Given the description of an element on the screen output the (x, y) to click on. 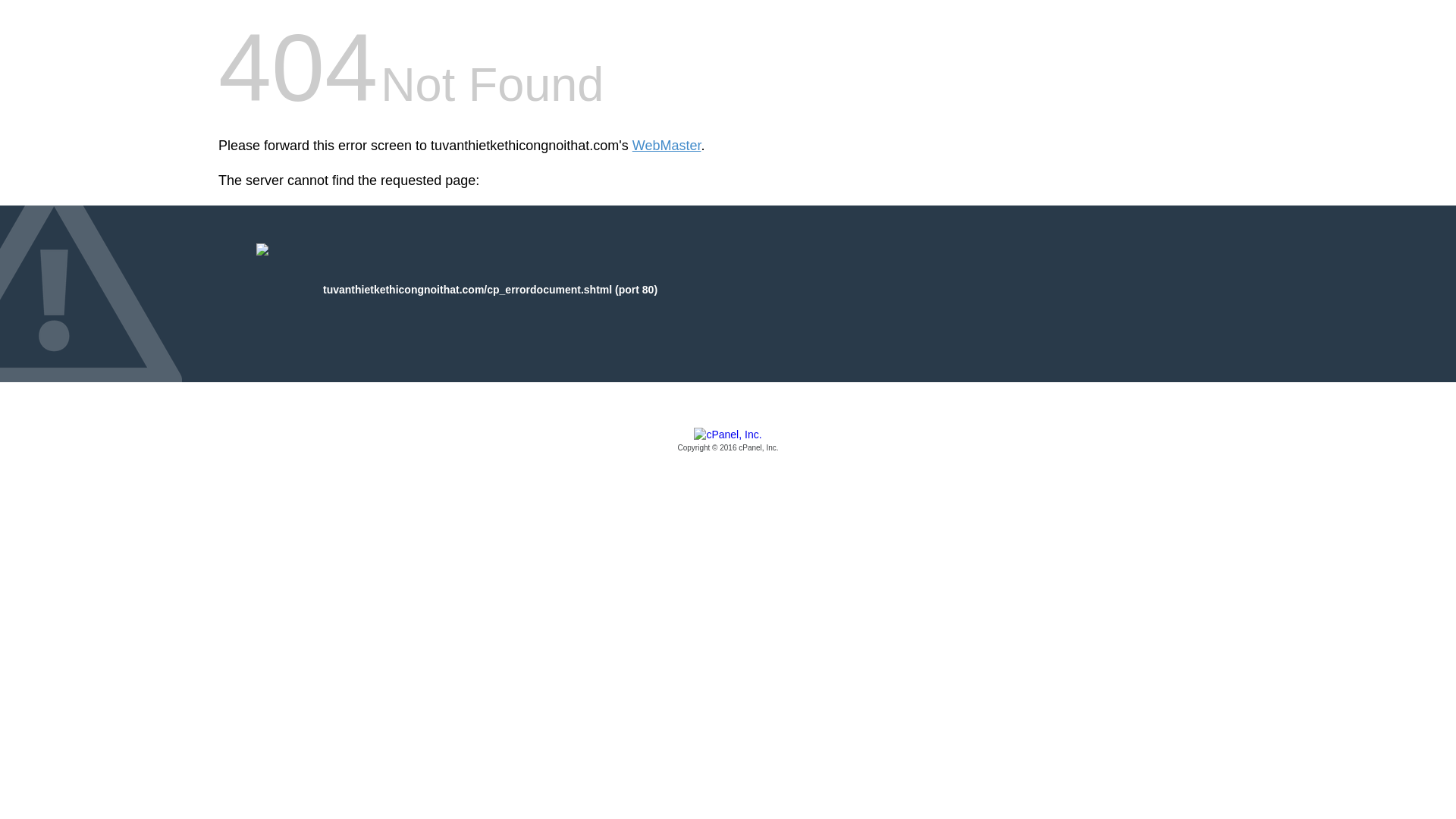
WebMaster (666, 145)
cPanel, Inc. (727, 440)
